Given the description of an element on the screen output the (x, y) to click on. 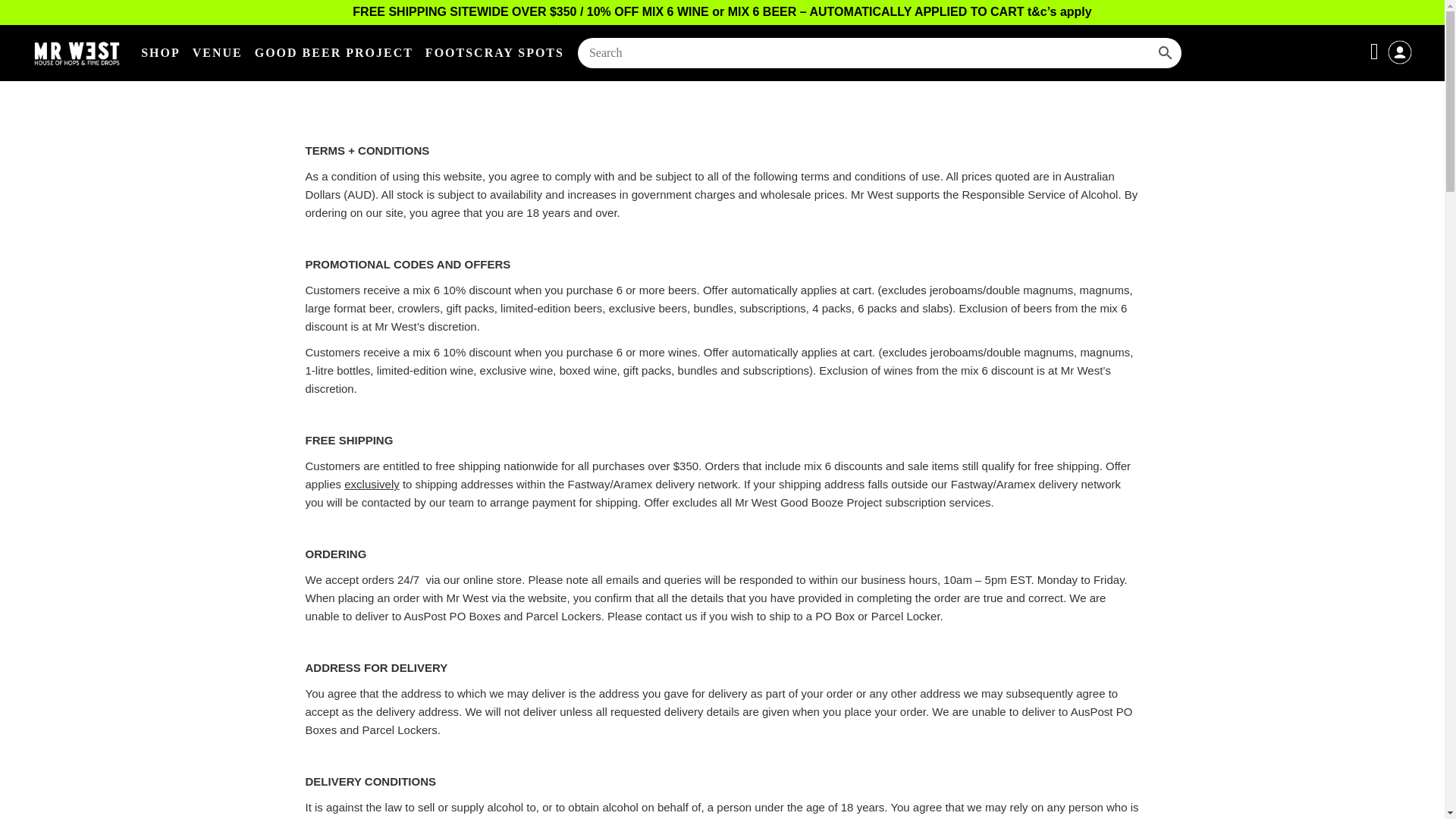
SHOP (160, 53)
My Cart (1378, 50)
account (1399, 52)
account (1399, 62)
